Given the description of an element on the screen output the (x, y) to click on. 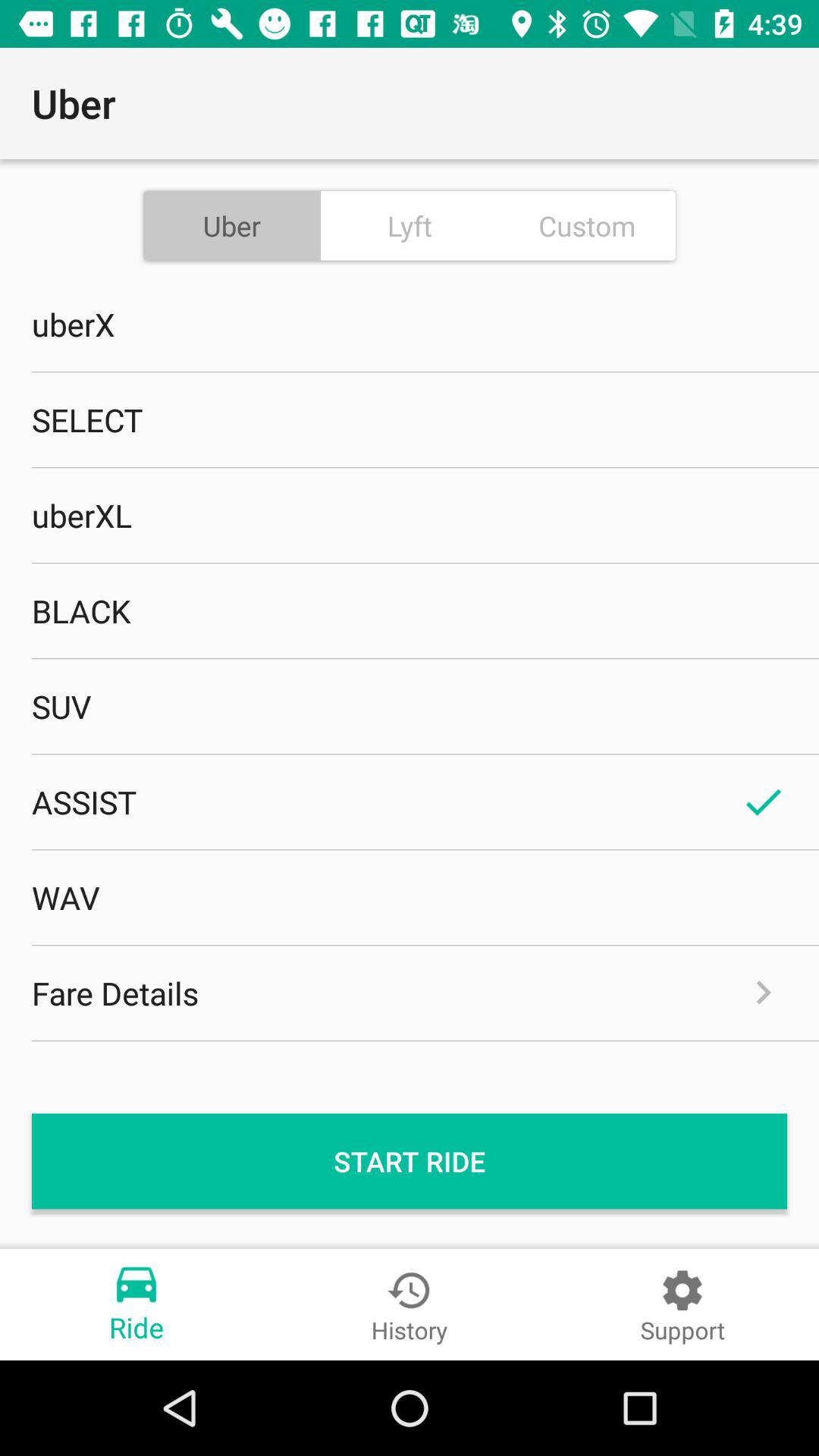
tap wav item (409, 897)
